Given the description of an element on the screen output the (x, y) to click on. 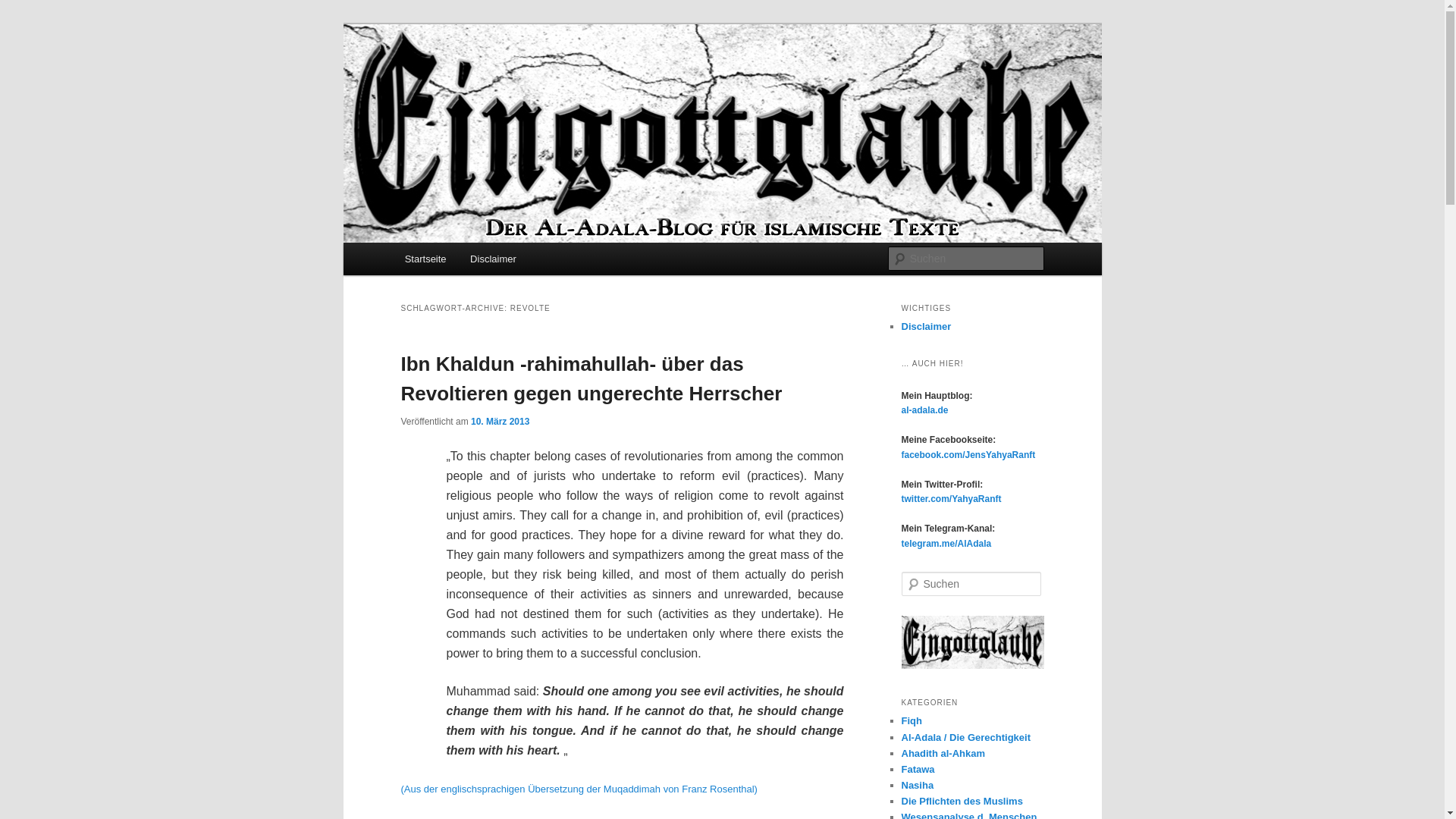
Adala Blog (459, 78)
Nasiha (917, 785)
Die Pflichten des Muslims (961, 800)
Fatawa (917, 768)
Startseite (425, 258)
al-adala.de (924, 409)
Disclaimer (925, 326)
Wesensanalyse d. Menschen (968, 815)
Hadithe der rechtlichen Bestimmungen (943, 753)
Ahadith al-Ahkam (943, 753)
